Given the description of an element on the screen output the (x, y) to click on. 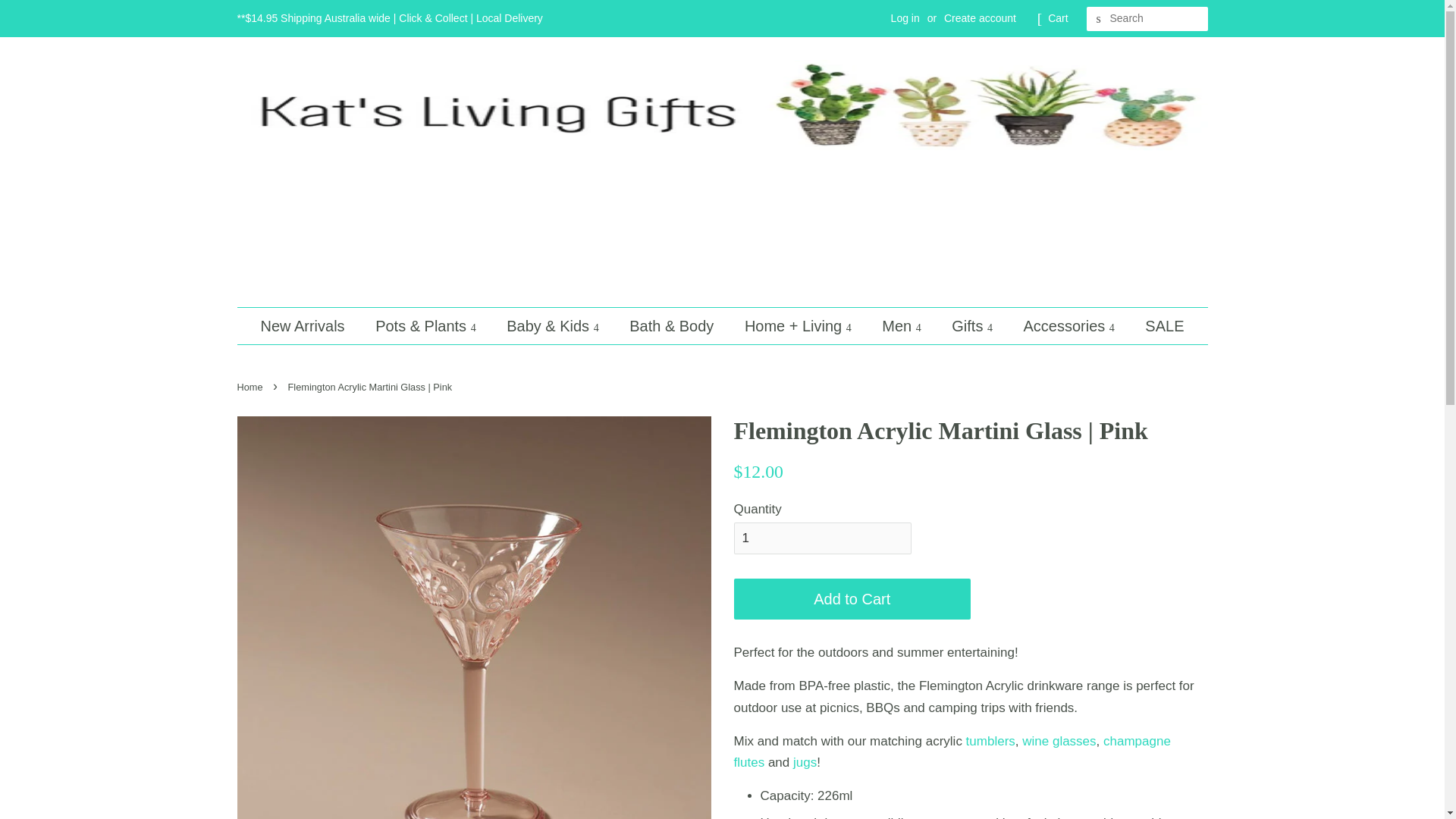
1 (822, 538)
Search (1097, 18)
Create account (979, 18)
Log in (905, 18)
Back to the frontpage (250, 387)
Cart (1057, 18)
